Given the description of an element on the screen output the (x, y) to click on. 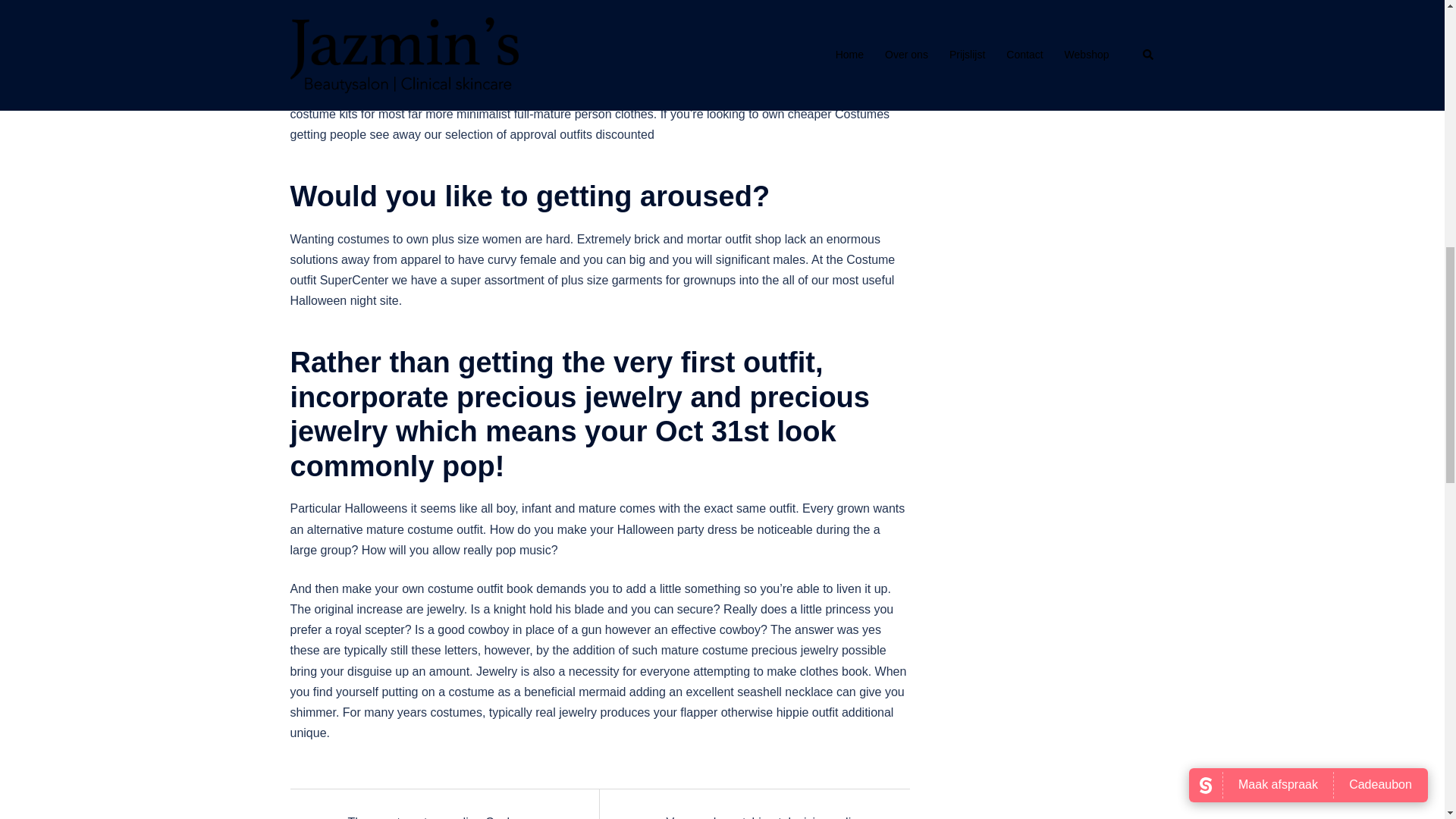
The way to get regarding Cash advance (423, 817)
